Given the description of an element on the screen output the (x, y) to click on. 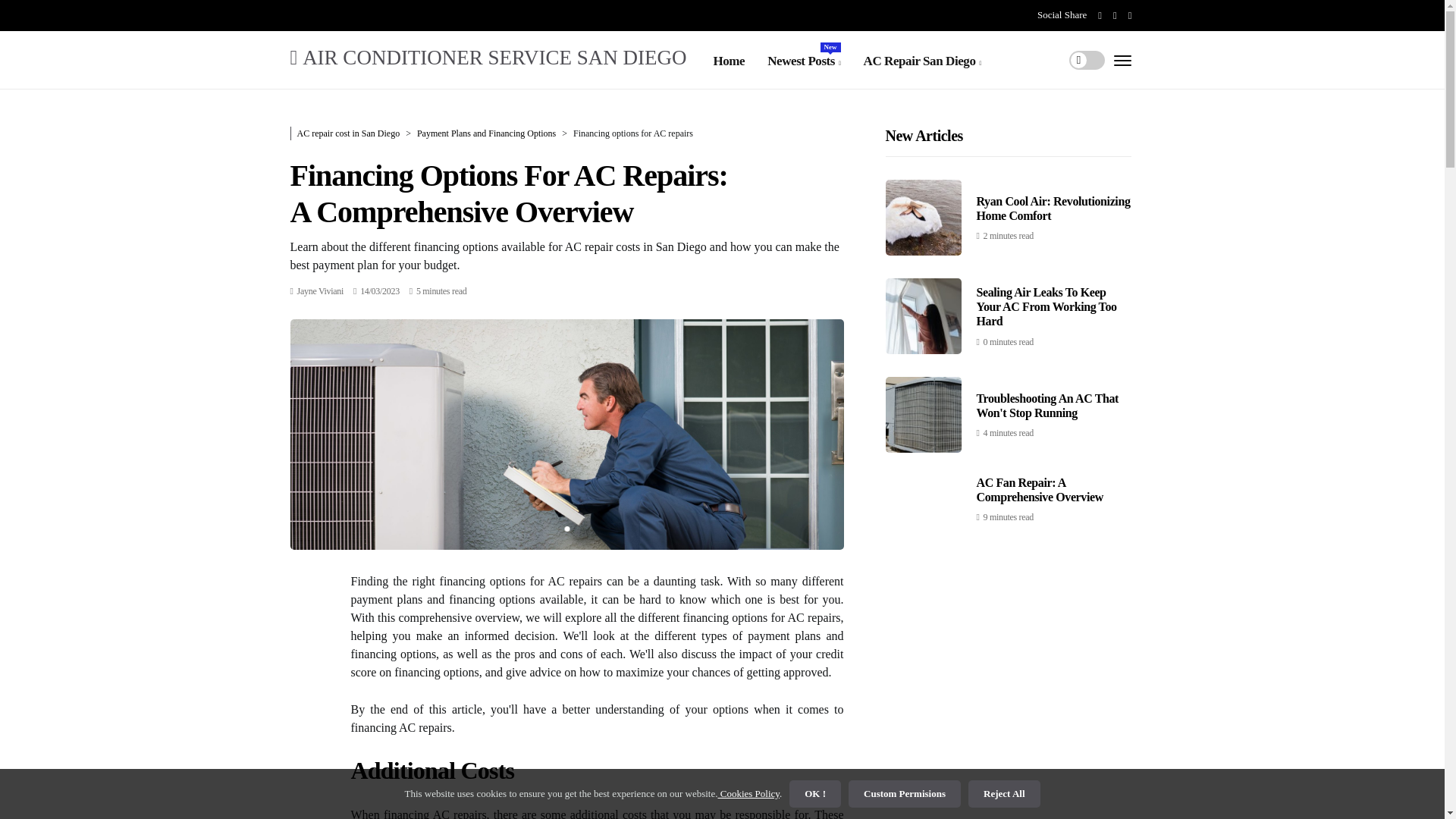
AIR CONDITIONER SERVICE SAN DIEGO (487, 56)
Posts by Jayne Viviani (320, 290)
AC Repair San Diego (922, 61)
